Given the description of an element on the screen output the (x, y) to click on. 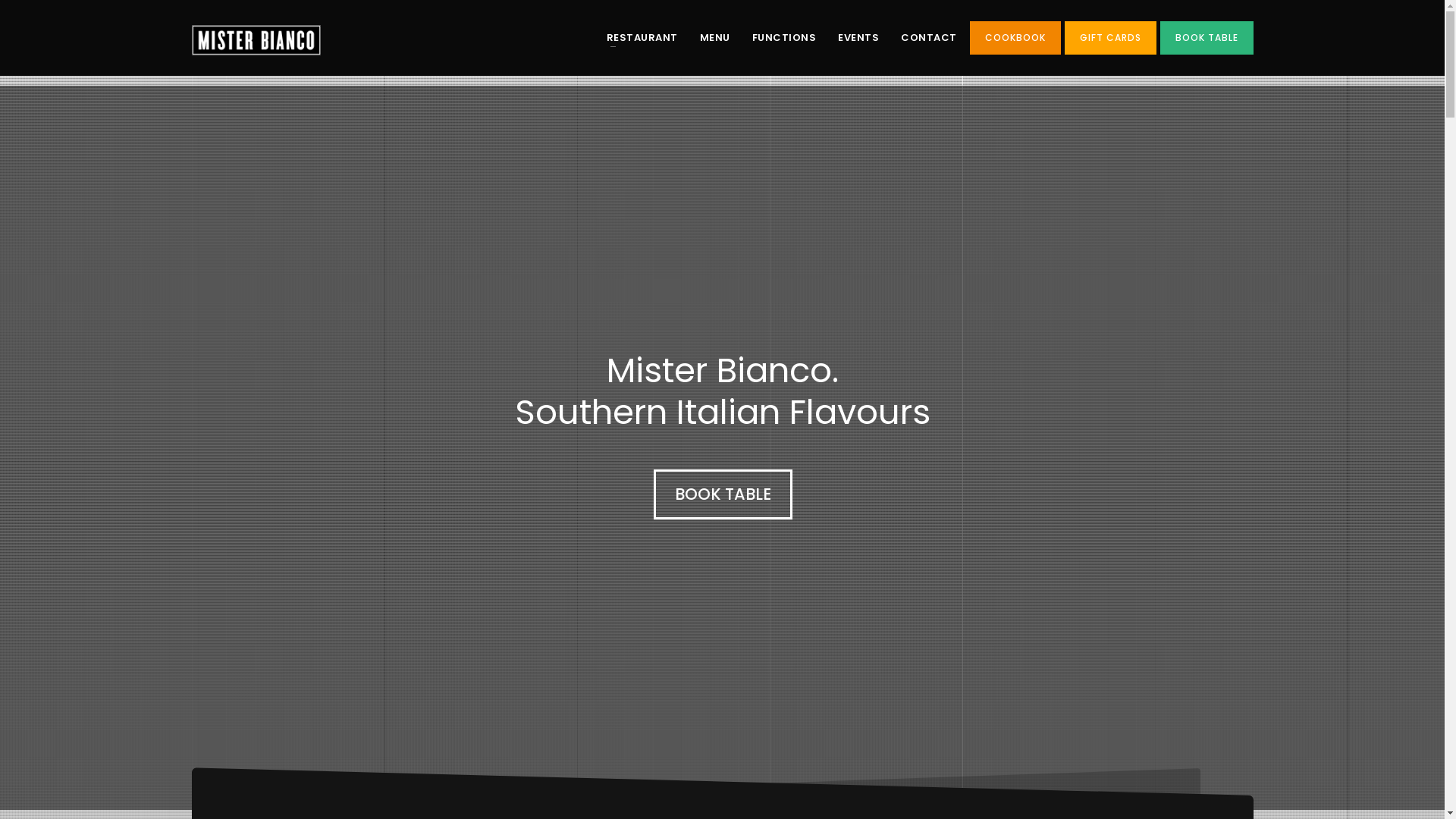
FUNCTIONS Element type: text (784, 37)
EVENTS Element type: text (858, 37)
BOOK TABLE Element type: text (1206, 38)
RESTAURANT Element type: text (642, 37)
GIFT CARDS Element type: text (1110, 37)
CONTACT Element type: text (928, 37)
COOKBOOK Element type: text (1014, 37)
BOOK TABLE Element type: text (722, 493)
MENU Element type: text (714, 37)
